Given the description of an element on the screen output the (x, y) to click on. 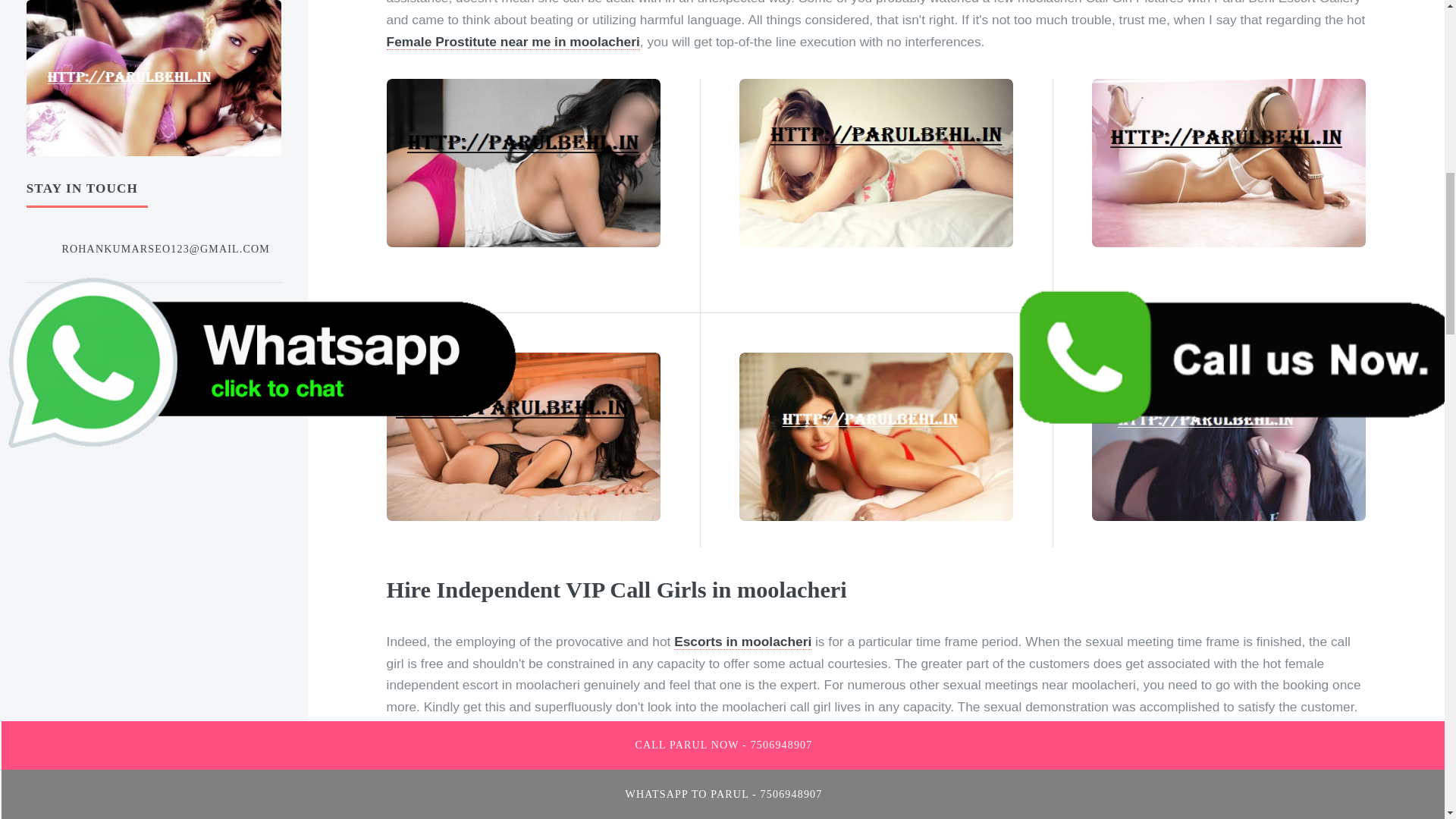
moolacheri Escort Girls (461, 793)
VIP moolacheri Escort Girls (639, 813)
Female Prostitute near me in moolacheri (513, 41)
Bindu moolacheri Escort Girls (1042, 750)
moolacheri Escort Girls (1259, 772)
Damini moolacheri Escort Girls (849, 793)
Jaincy moolacheri Escort Girls (1266, 793)
Sehenaj moolacheri Escort Girls (1059, 793)
Parul moolacheri Escort Girls (882, 772)
Hema moolacheri Escort Girls (481, 772)
Nayra moolacheri Escort Girls (1079, 772)
moolacheri Escort Girls (863, 750)
moolacheri Escort Girls (467, 813)
Vanishka moolacheri Escort Girls (1251, 750)
Escorts in moolacheri (742, 641)
